Given the description of an element on the screen output the (x, y) to click on. 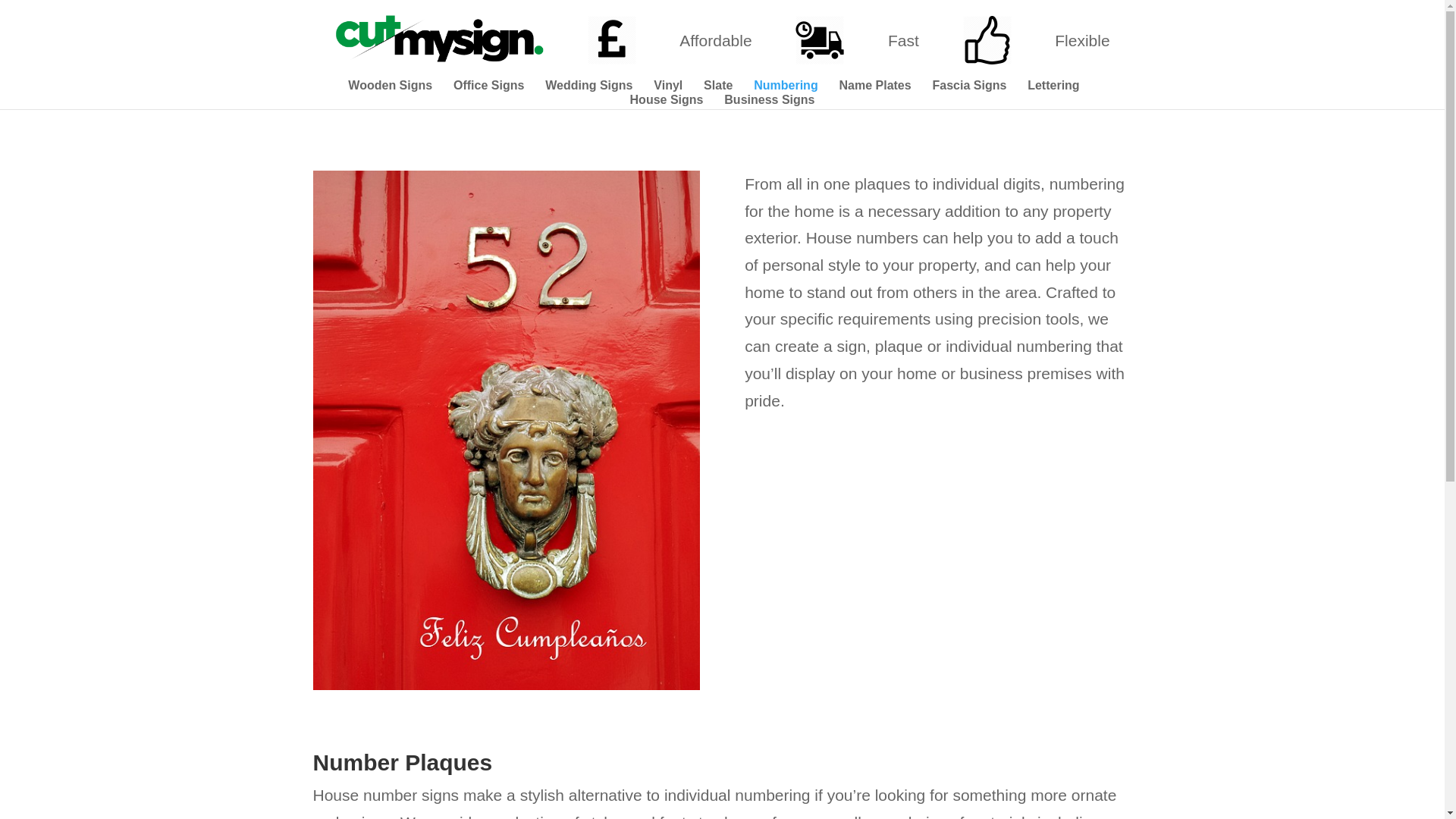
Numbering (785, 87)
House Signs (666, 101)
Fascia Signs (970, 87)
Vinyl (667, 87)
Business Signs (768, 101)
Office Signs (488, 87)
Name Plates (874, 87)
Lettering (1052, 87)
Wooden Signs (389, 87)
Slate (717, 87)
